Given the description of an element on the screen output the (x, y) to click on. 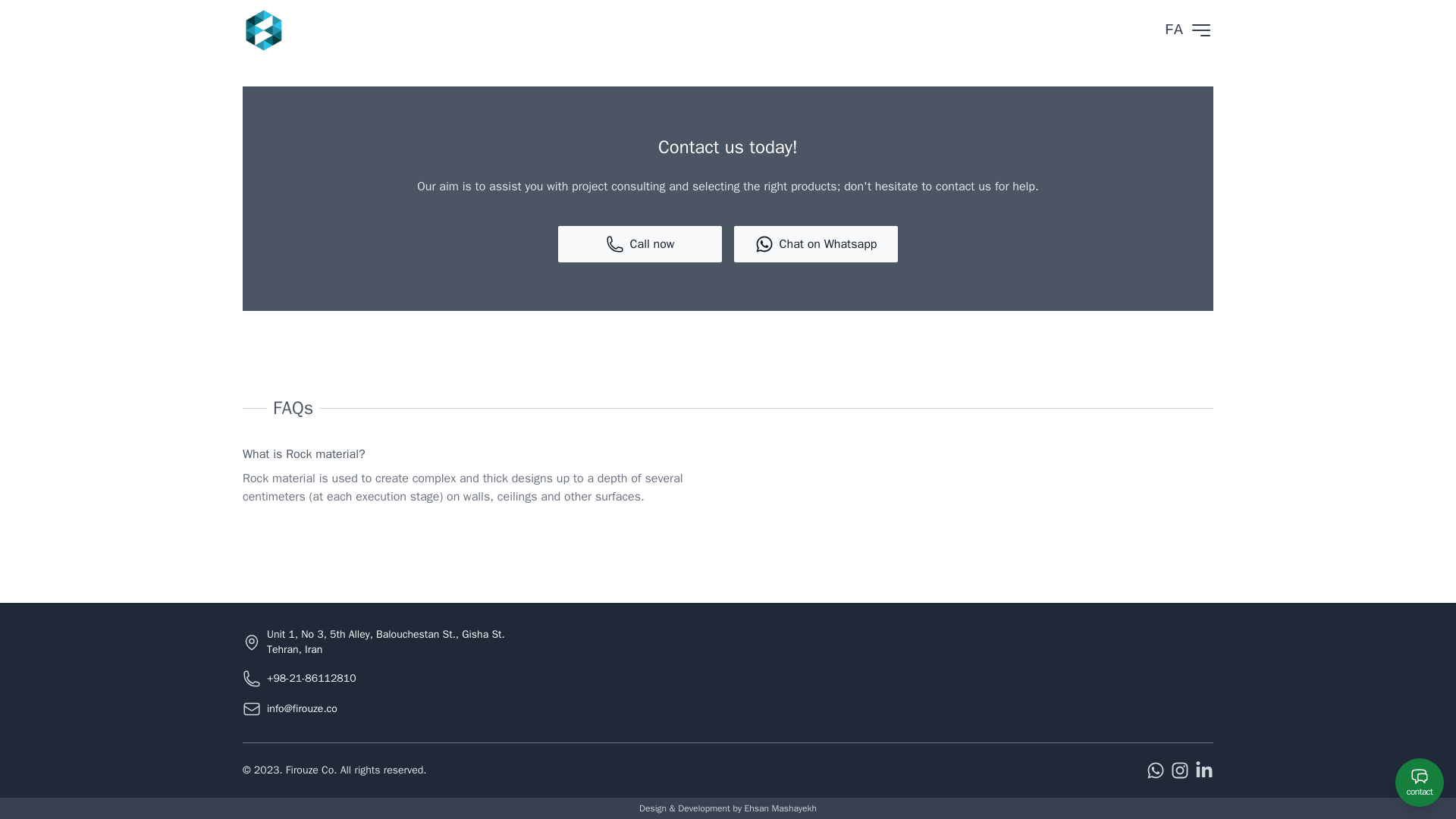
Call now (639, 244)
Chat on Whatsapp (815, 244)
